Given the description of an element on the screen output the (x, y) to click on. 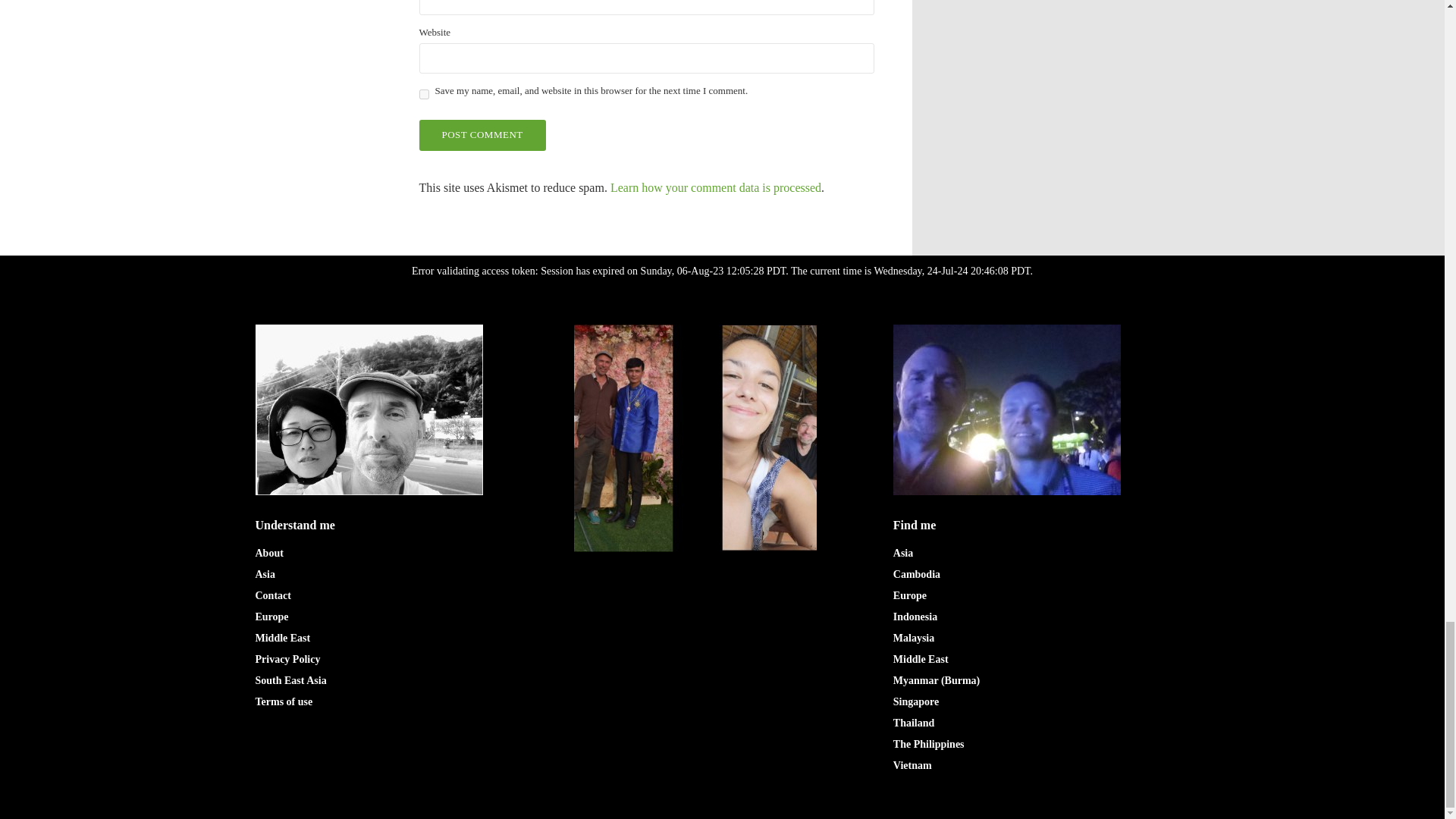
Post Comment (481, 134)
yes (423, 94)
